Given the description of an element on the screen output the (x, y) to click on. 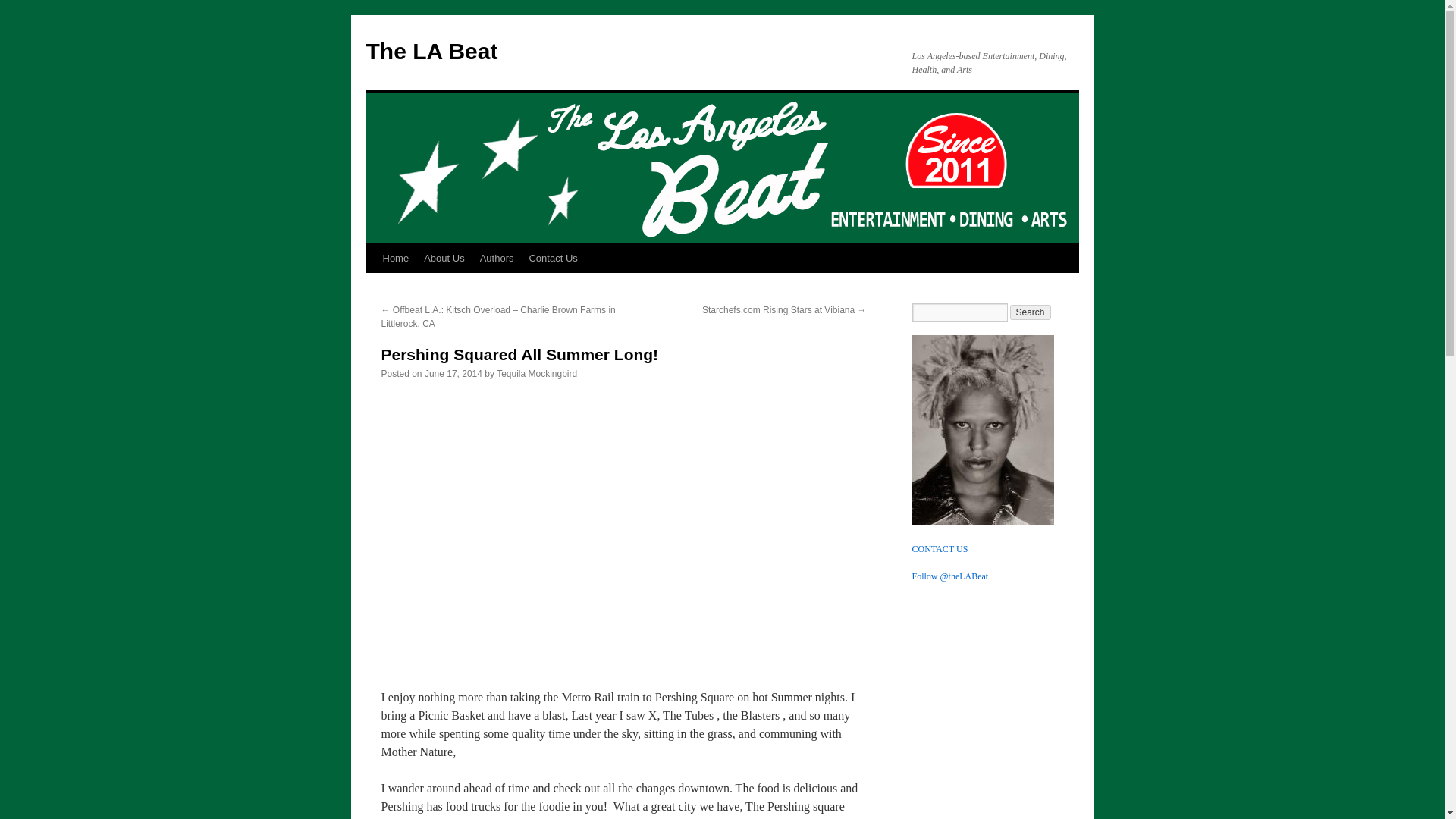
CONTACT US (939, 548)
Tequila Mockingbird (536, 373)
Search (1030, 312)
About Us (443, 258)
The LA Beat (431, 50)
Search (1030, 312)
The LA Beat (431, 50)
View all posts by Tequila Mockingbird (536, 373)
Authors (496, 258)
1:46 pm (453, 373)
